Given the description of an element on the screen output the (x, y) to click on. 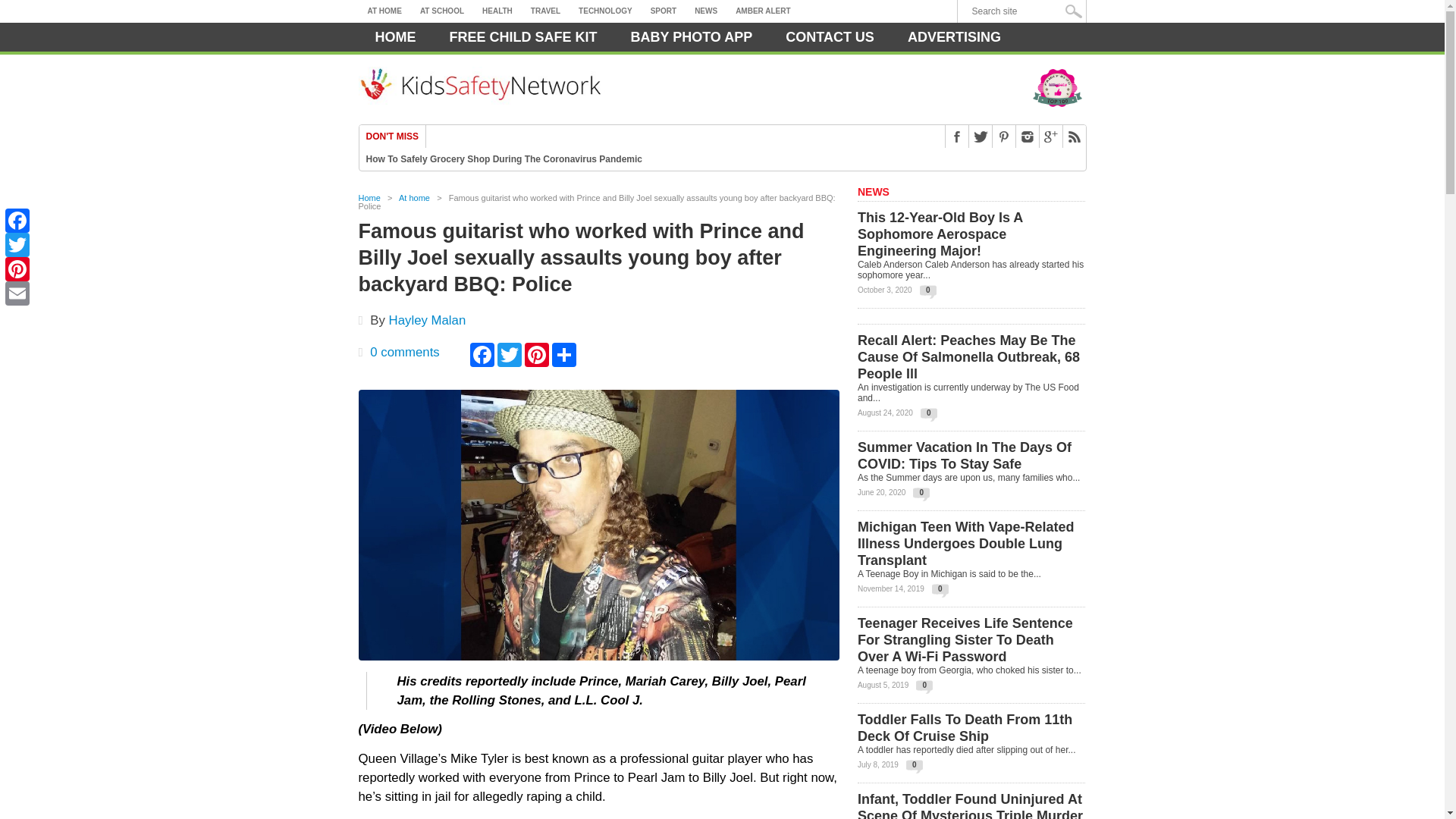
NEWS (705, 11)
Facebook (17, 220)
HEALTH (497, 11)
Pinterest (17, 269)
Twitter (17, 244)
TECHNOLOGY (605, 11)
SPORT (663, 11)
AT SCHOOL (441, 11)
Search site (1024, 11)
Posts by Hayley Malan (426, 319)
AT HOME (384, 11)
AMBER ALERT (762, 11)
TRAVEL (545, 11)
Email (17, 293)
Home (395, 36)
